Given the description of an element on the screen output the (x, y) to click on. 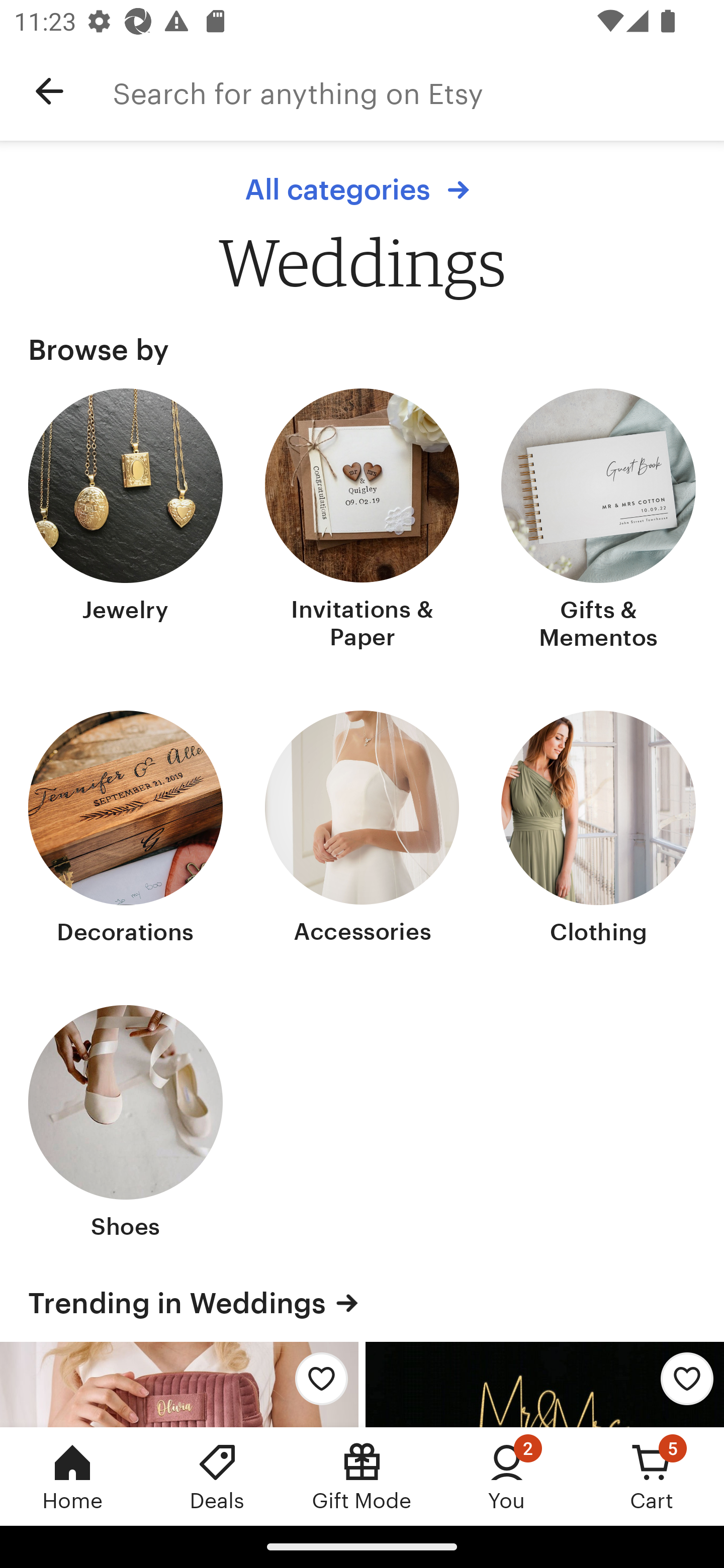
Navigate up (49, 91)
Search for anything on Etsy (418, 91)
All categories (361, 189)
Jewelry (125, 520)
Invitations & Paper (361, 520)
Gifts & Mementos (598, 520)
Decorations (125, 829)
Accessories (361, 829)
Clothing (598, 829)
Shoes (125, 1124)
Trending in Weddings  (361, 1302)
Deals (216, 1475)
Gift Mode (361, 1475)
You, 2 new notifications You (506, 1475)
Cart, 5 new notifications Cart (651, 1475)
